Given the description of an element on the screen output the (x, y) to click on. 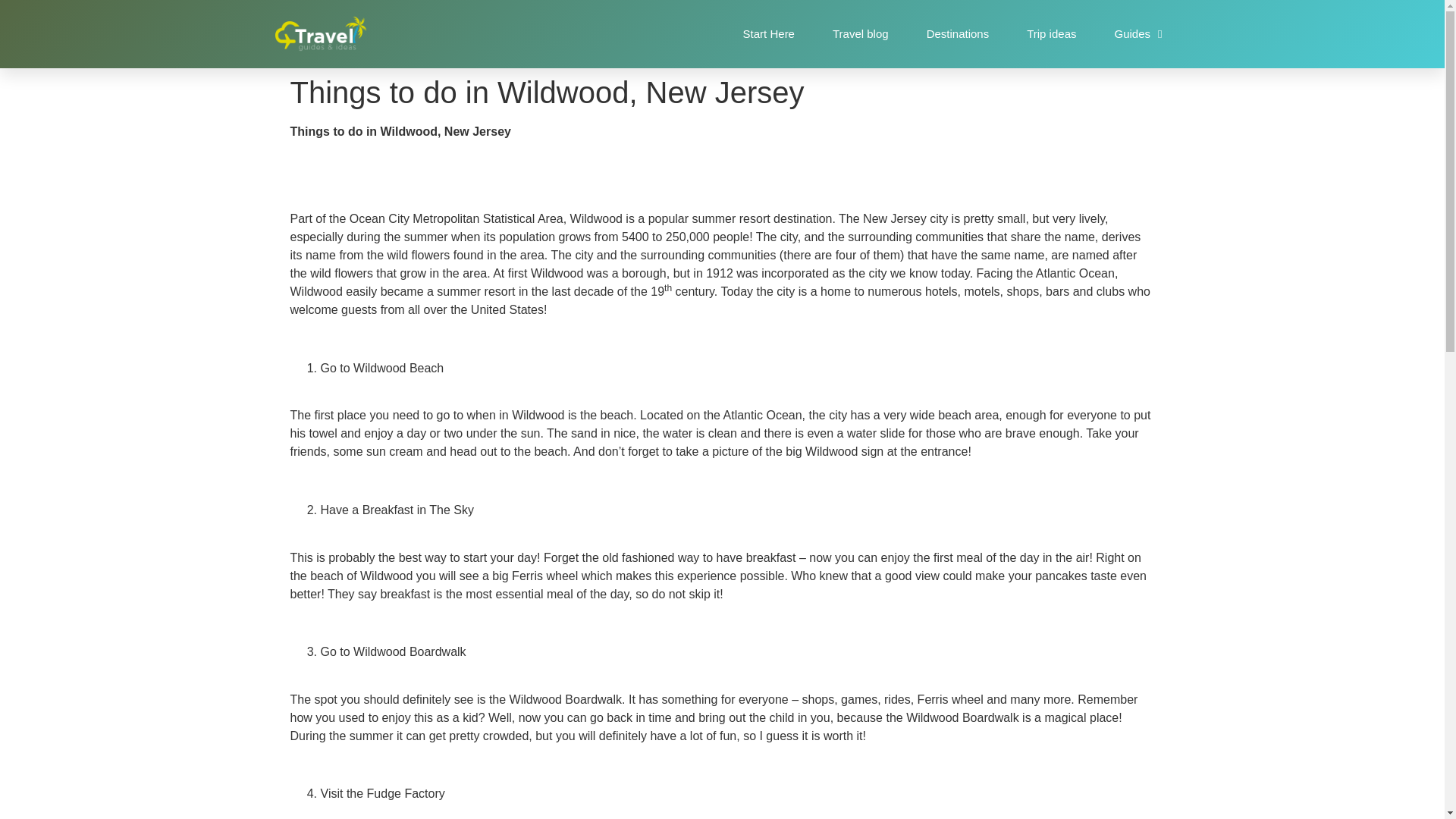
Destinations (958, 33)
